Given the description of an element on the screen output the (x, y) to click on. 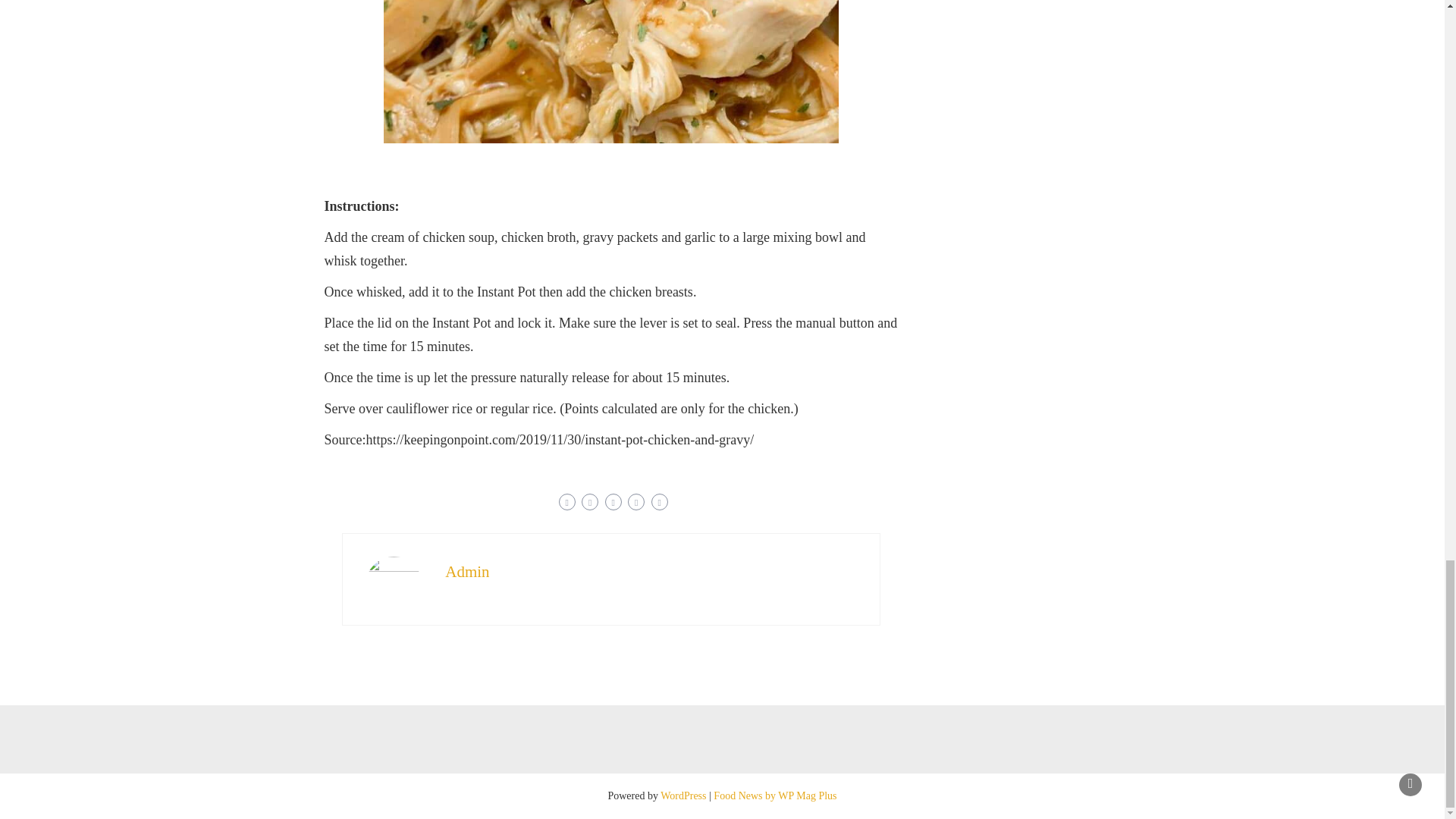
Admin (467, 571)
